Given the description of an element on the screen output the (x, y) to click on. 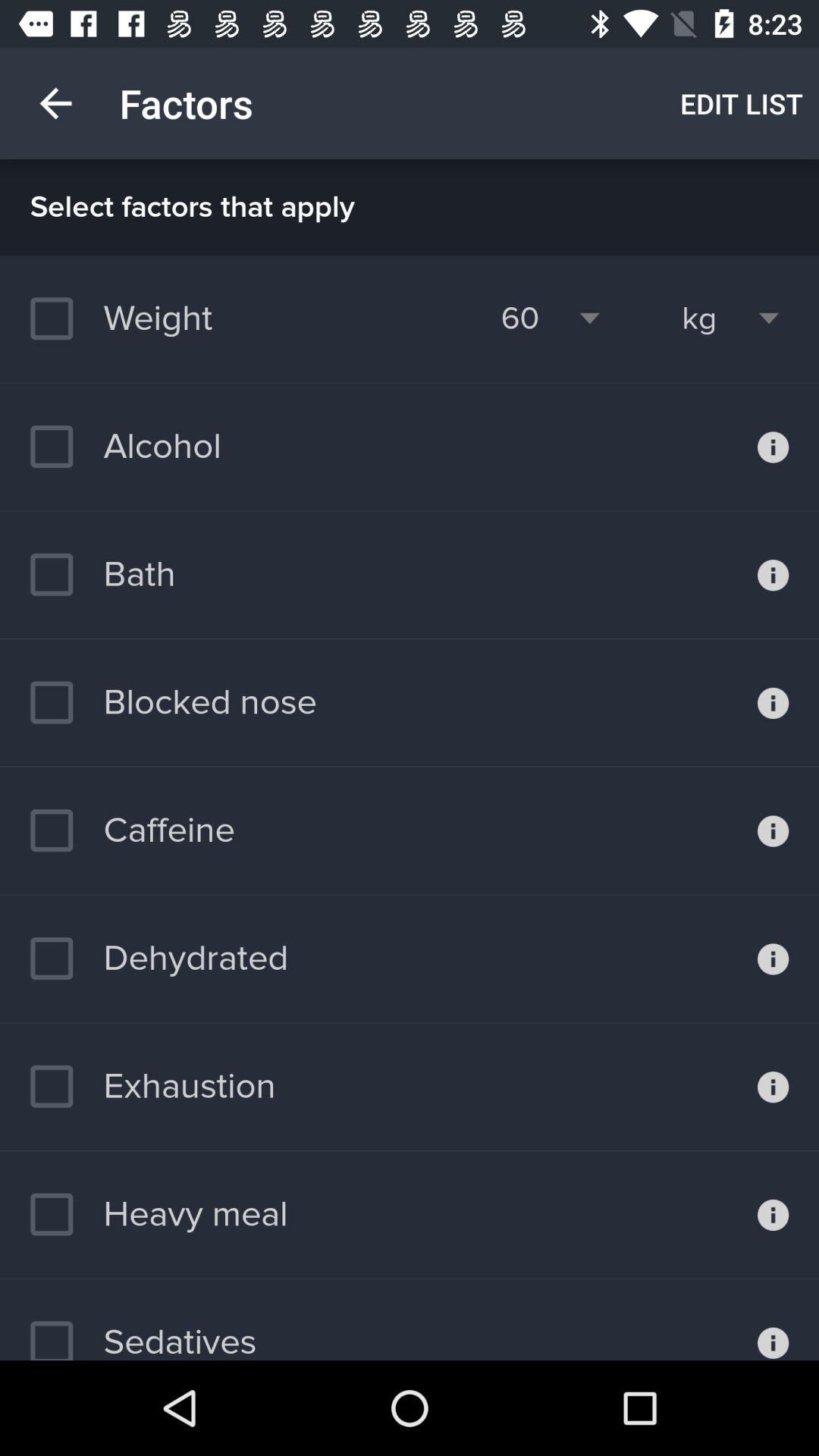
select weight item (129, 318)
